Given the description of an element on the screen output the (x, y) to click on. 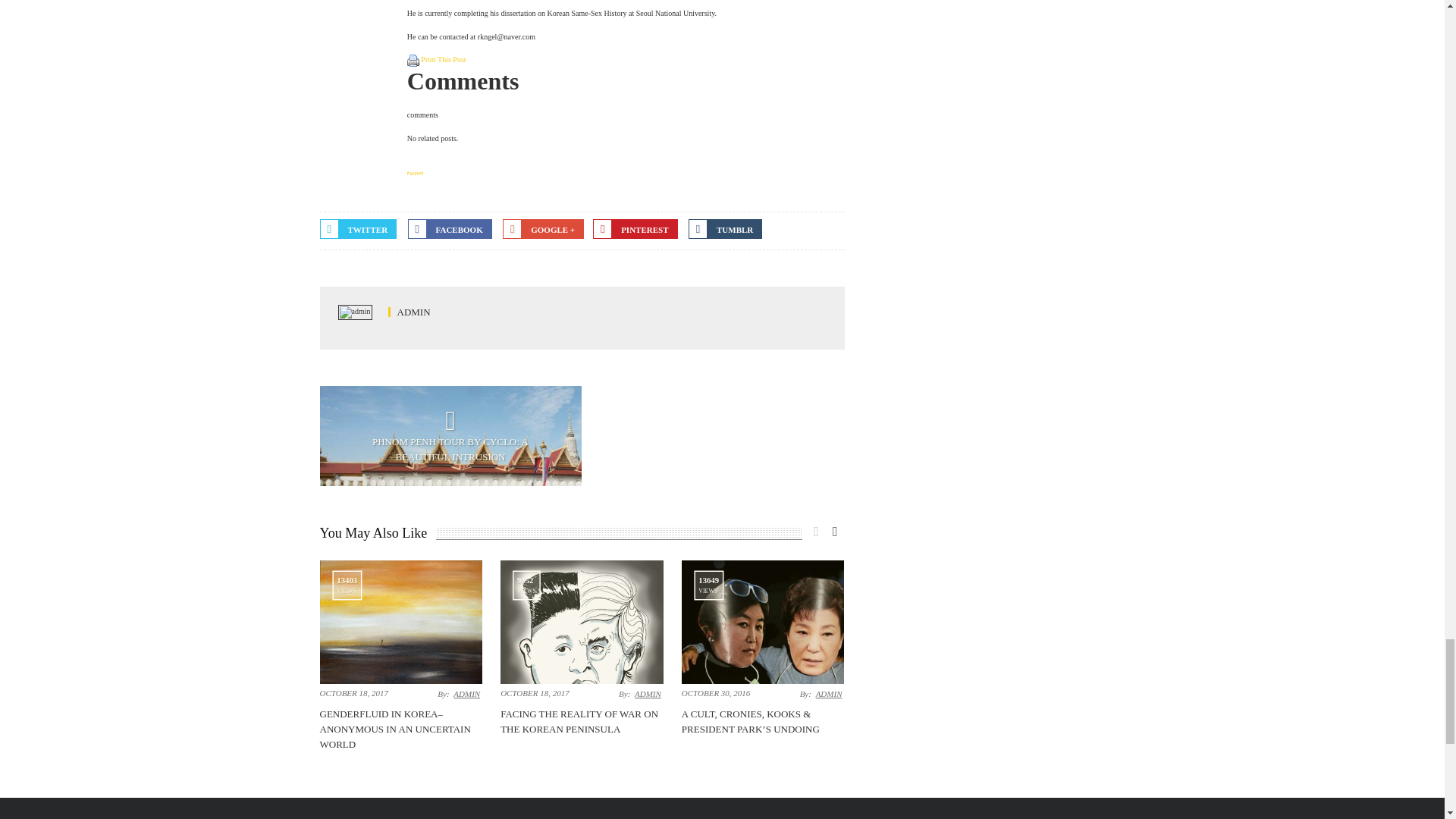
Print This Post (413, 60)
Print This Post (442, 60)
Print This Post (413, 60)
TWITTER (358, 229)
tweet (415, 172)
Print This Post (442, 60)
